Given the description of an element on the screen output the (x, y) to click on. 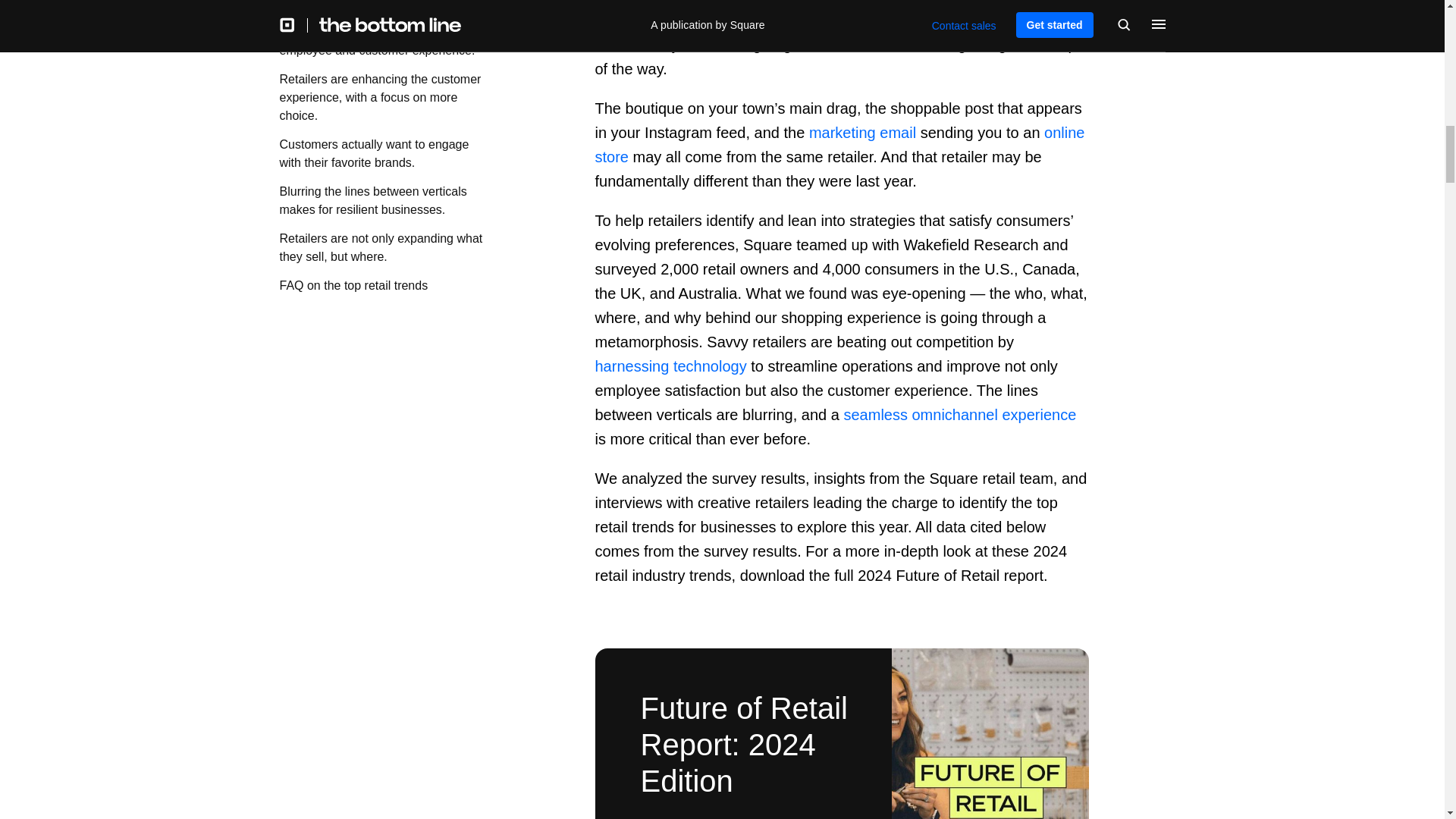
Future of Retail Report: 2024 Edition (841, 733)
